Given the description of an element on the screen output the (x, y) to click on. 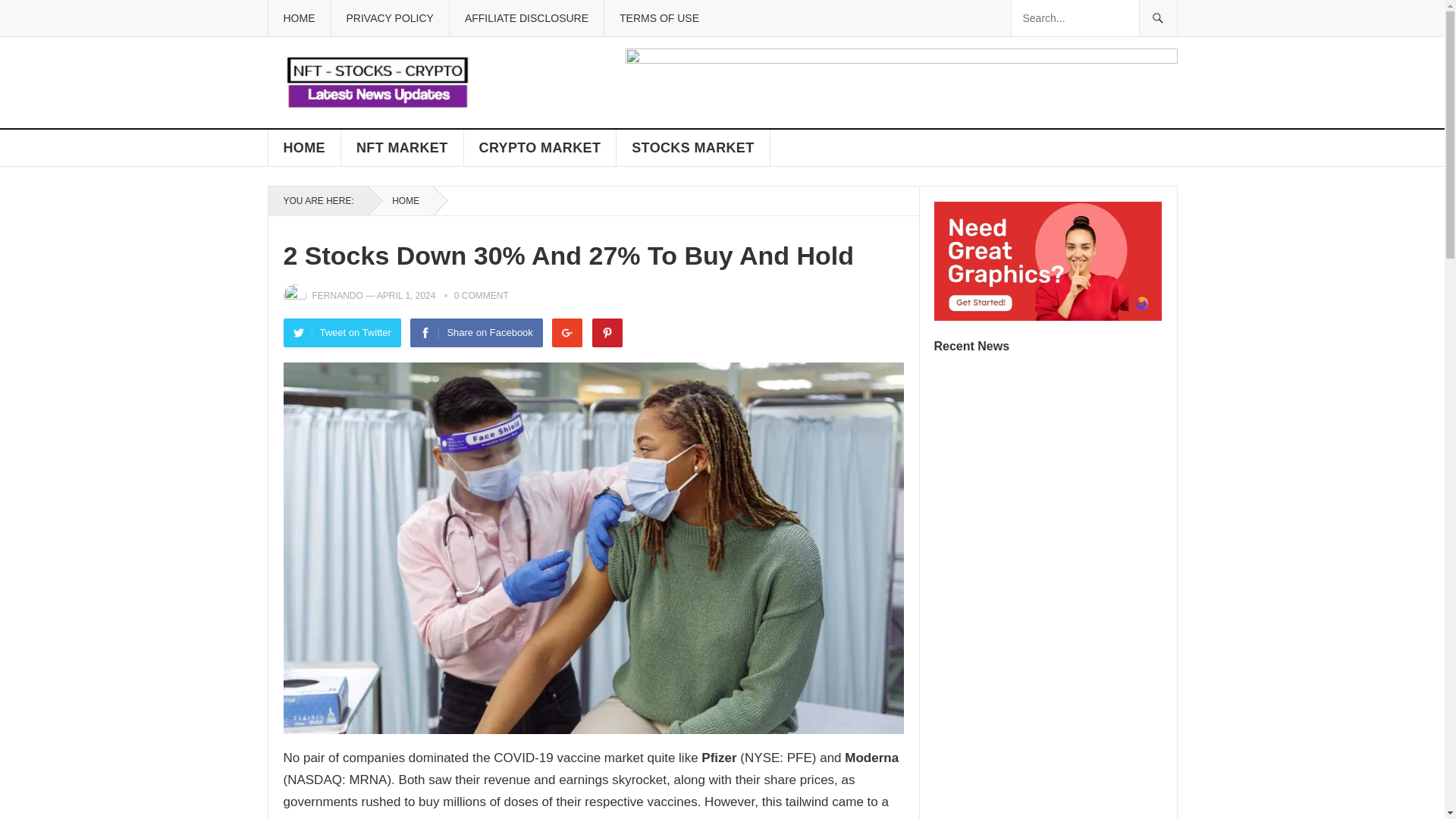
AFFILIATE DISCLOSURE (526, 18)
PRIVACY POLICY (389, 18)
NFT MARKET (402, 147)
FERNANDO (337, 295)
Pinterest (607, 332)
Share on Facebook (475, 332)
HOME (298, 18)
STOCKS MARKET (692, 147)
Posts by Fernando (337, 295)
HOME (303, 147)
TERMS OF USE (659, 18)
Tweet on Twitter (342, 332)
0 COMMENT (481, 295)
HOME (400, 200)
CRYPTO MARKET (540, 147)
